Given the description of an element on the screen output the (x, y) to click on. 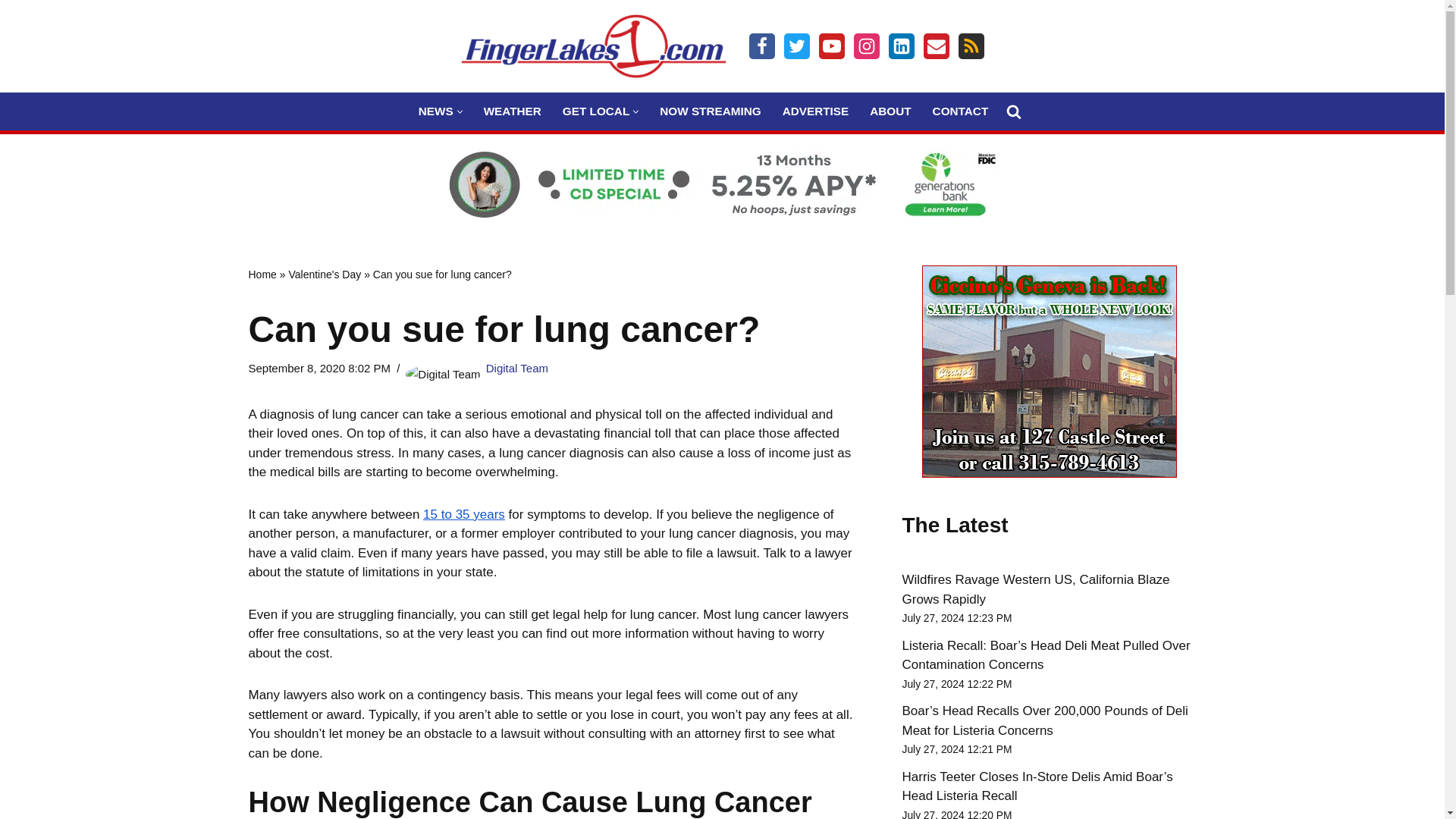
Facebook (761, 45)
Youtube (831, 45)
Posts by Digital Team (517, 367)
ABOUT (890, 111)
Twitter (796, 45)
WEATHER (512, 111)
NOW STREAMING (709, 111)
ADVERTISE (815, 111)
LinkIn (901, 45)
CONTACT (960, 111)
Feed (971, 45)
Skip to content (11, 31)
NEWS (435, 111)
GET LOCAL (595, 111)
Email Us (936, 45)
